Given the description of an element on the screen output the (x, y) to click on. 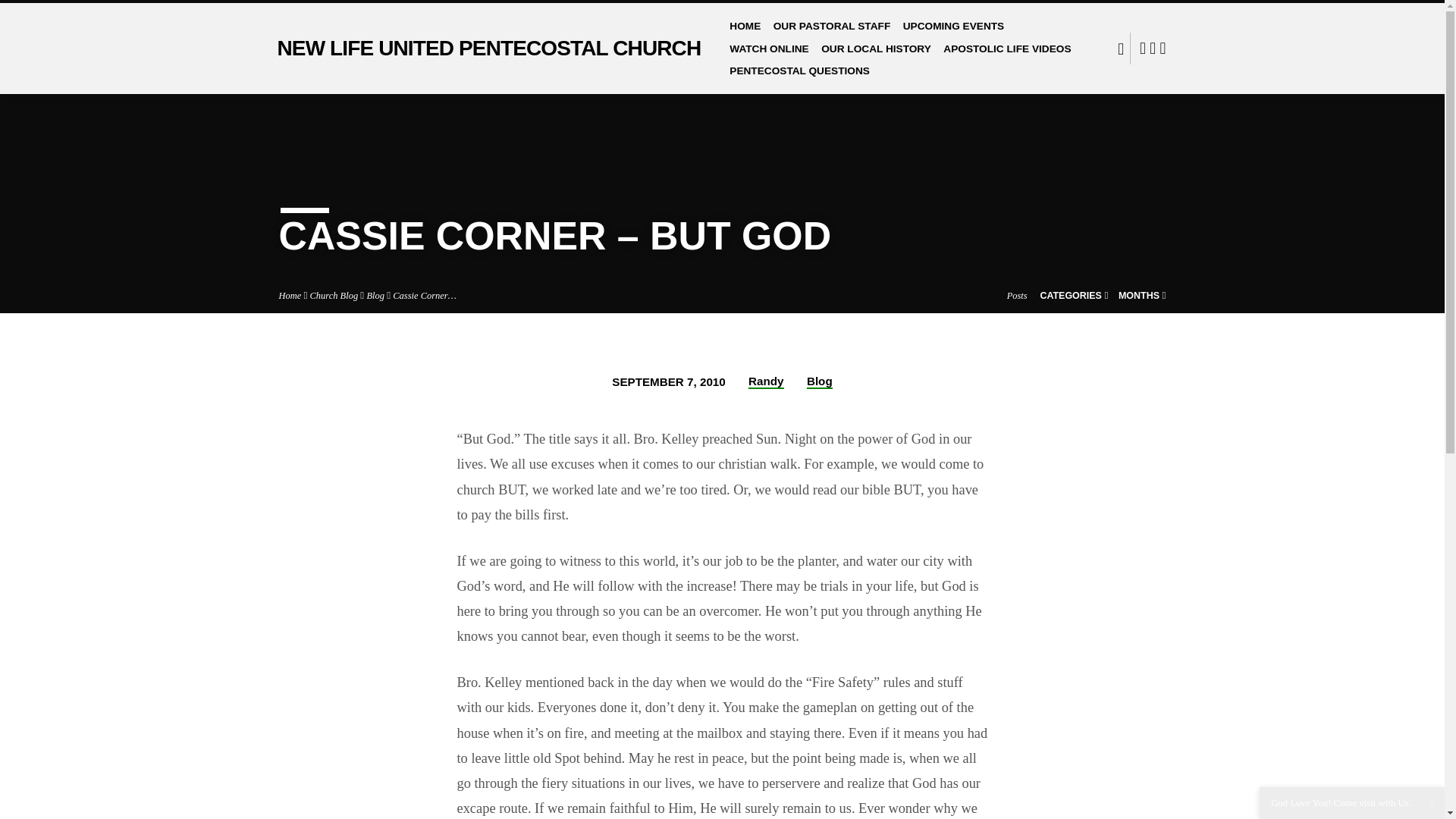
WATCH ONLINE (768, 56)
HOME (744, 33)
Church Blog (334, 295)
Randy (765, 381)
OUR PASTORAL STAFF (832, 33)
MONTHS (1142, 295)
Blog (375, 295)
APOSTOLIC LIFE VIDEOS (1006, 56)
OUR LOCAL HISTORY (876, 56)
UPCOMING EVENTS (953, 33)
